Given the description of an element on the screen output the (x, y) to click on. 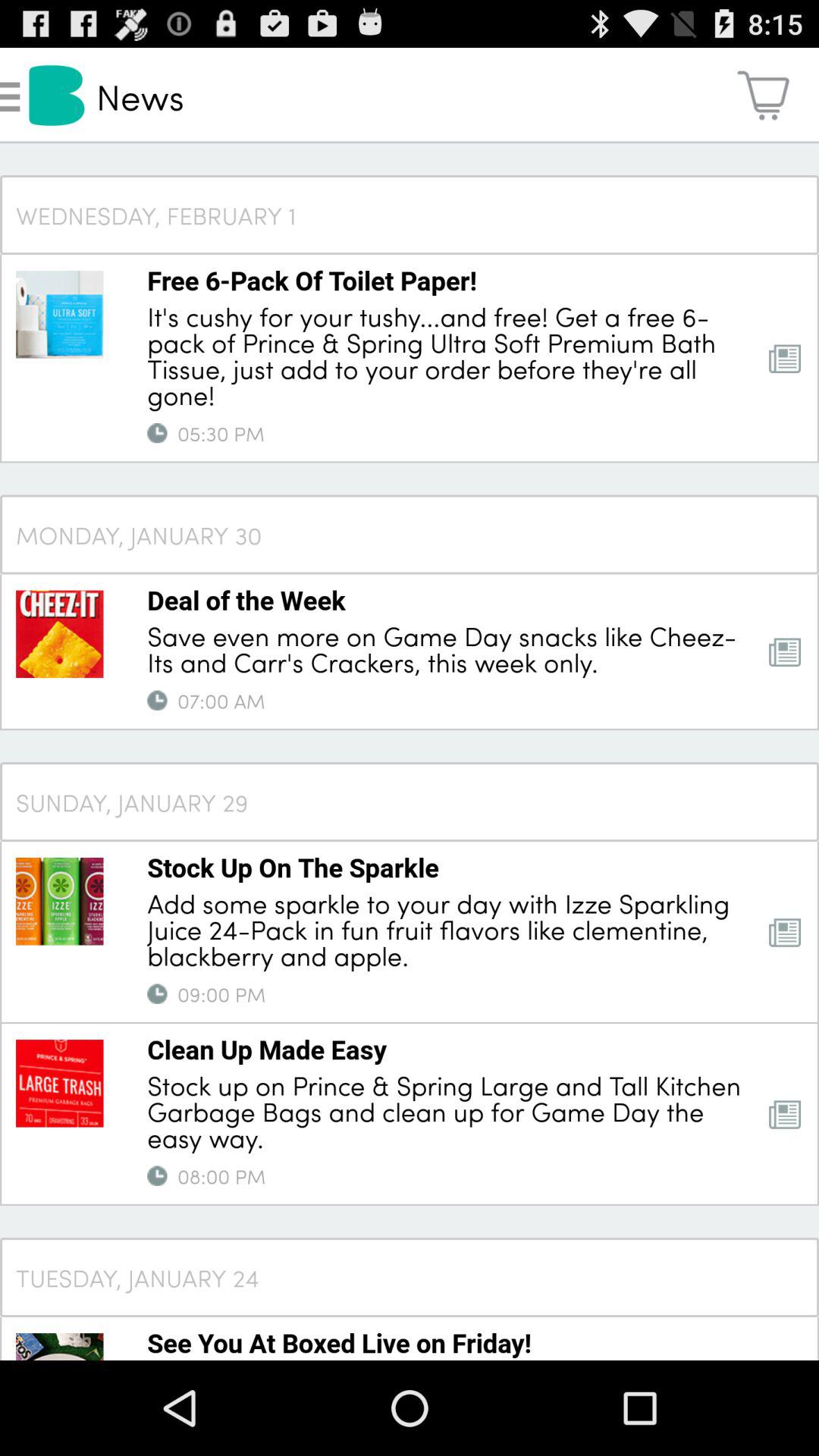
select the item to the left of the 08:00 pm item (157, 1175)
